Given the description of an element on the screen output the (x, y) to click on. 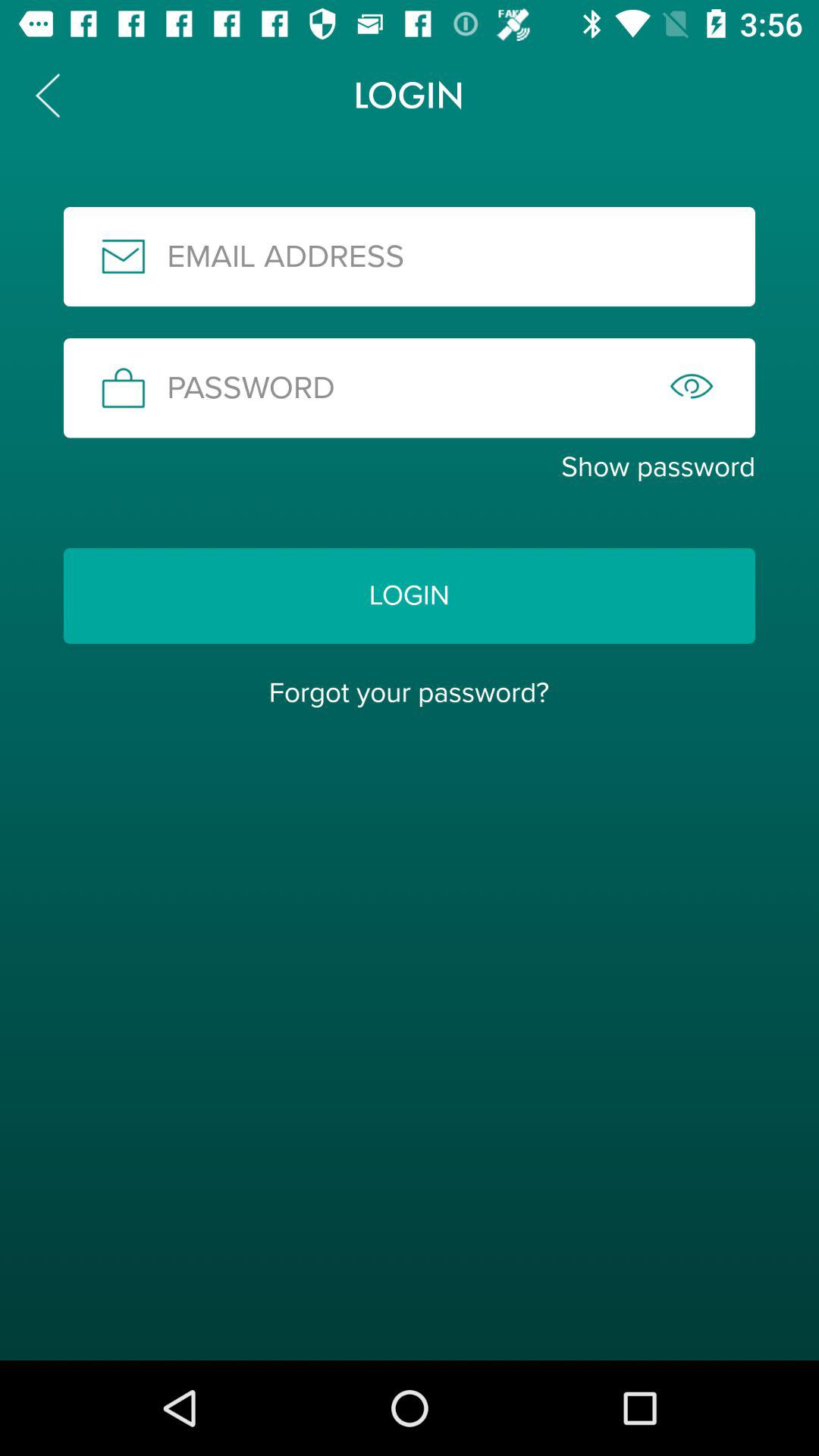
an arrow button that takes you to a previous page (47, 95)
